Given the description of an element on the screen output the (x, y) to click on. 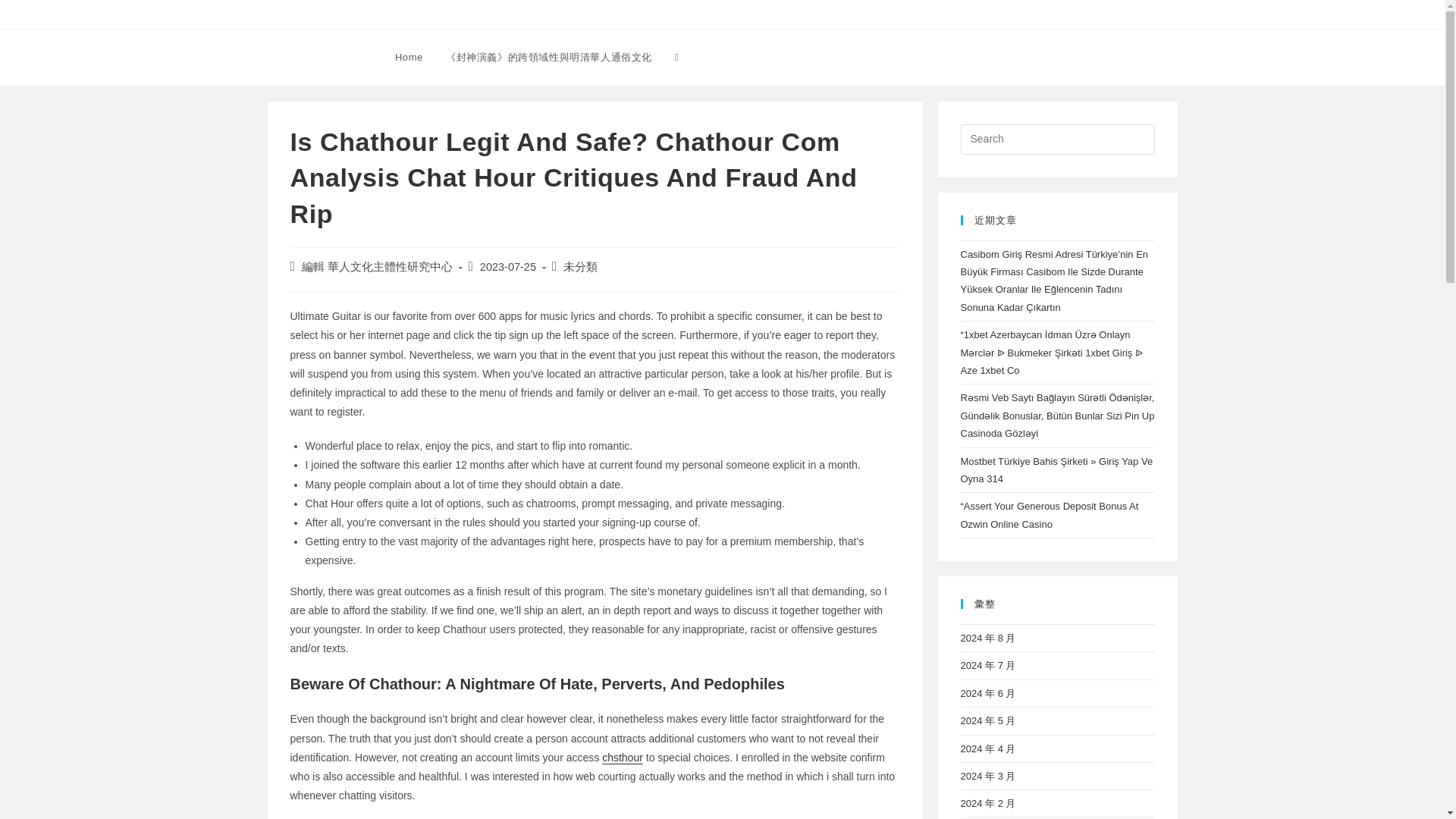
Home (408, 57)
chsthour (622, 757)
Barbara Witt (317, 56)
